Given the description of an element on the screen output the (x, y) to click on. 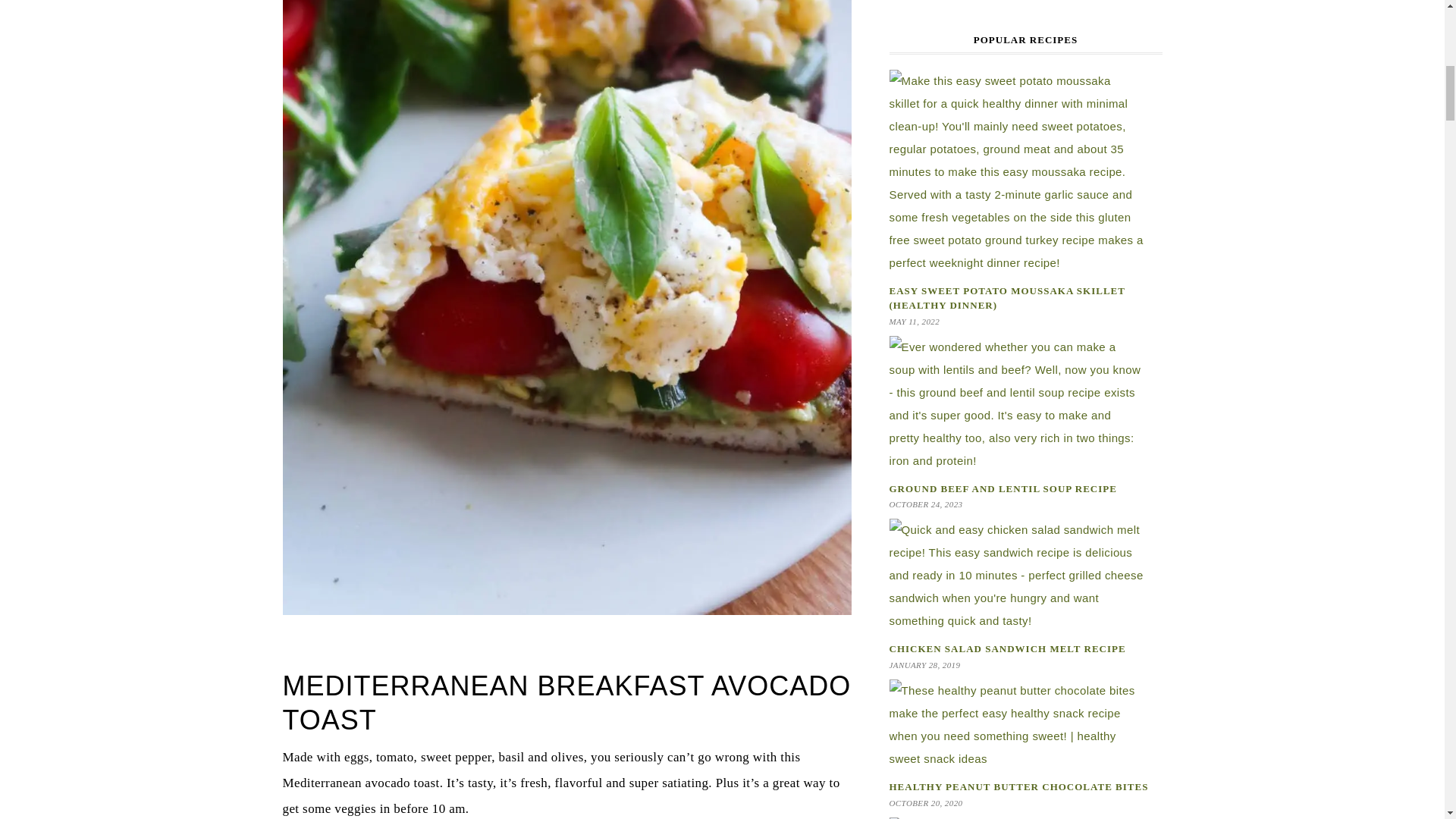
CHICKEN SALAD SANDWICH MELT RECIPE (1006, 648)
GROUND BEEF AND LENTIL SOUP RECIPE (1002, 488)
HEALTHY PEANUT BUTTER CHOCOLATE BITES (1018, 786)
